Given the description of an element on the screen output the (x, y) to click on. 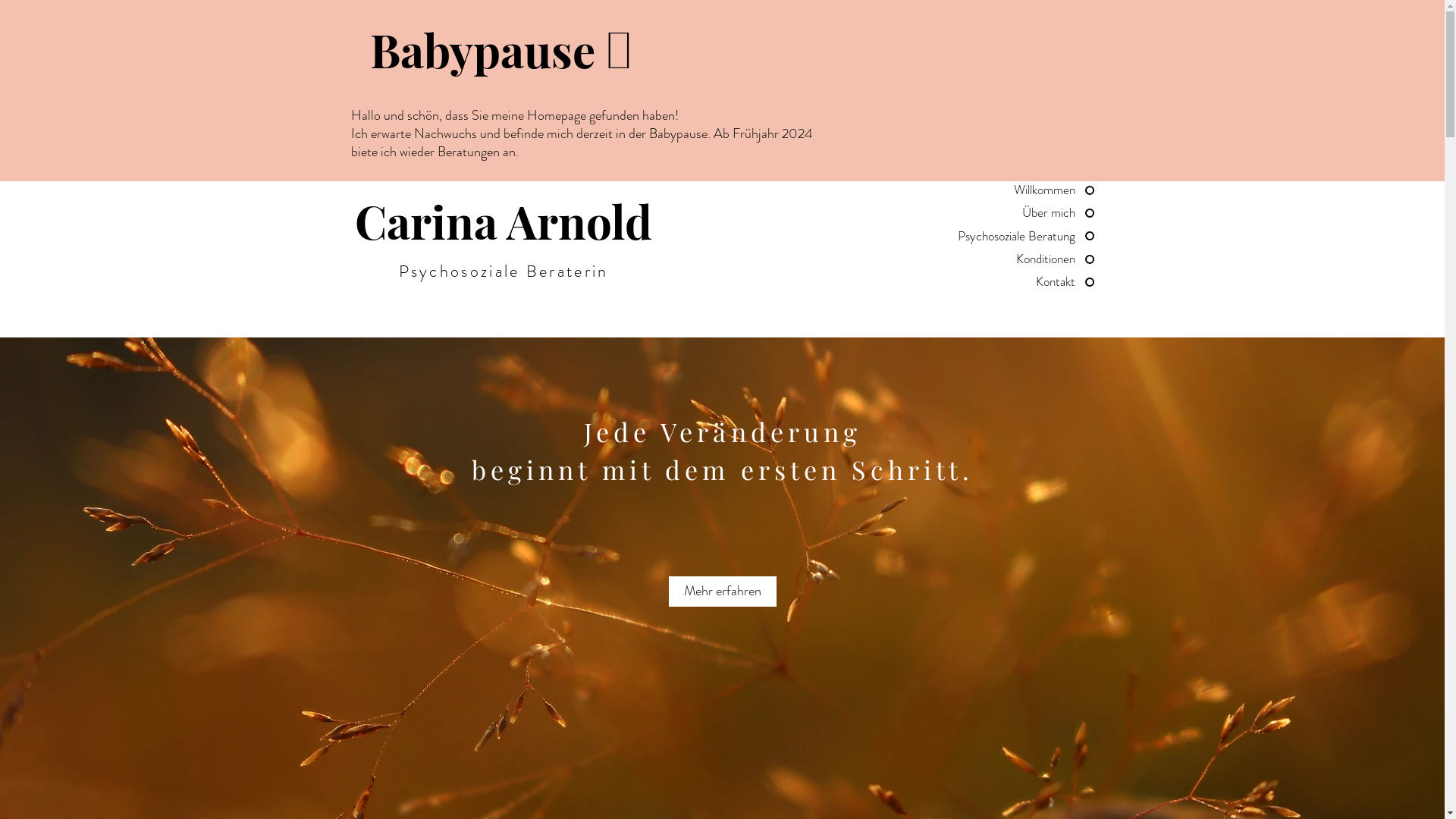
Psychosoziale Beratung Element type: text (983, 236)
Konditionen Element type: text (983, 259)
Kontakt Element type: text (983, 282)
Psychosoziale Beraterin Element type: text (503, 270)
Mehr erfahren Element type: text (722, 591)
Carina Arnold Element type: text (503, 220)
Willkommen Element type: text (983, 190)
